Given the description of an element on the screen output the (x, y) to click on. 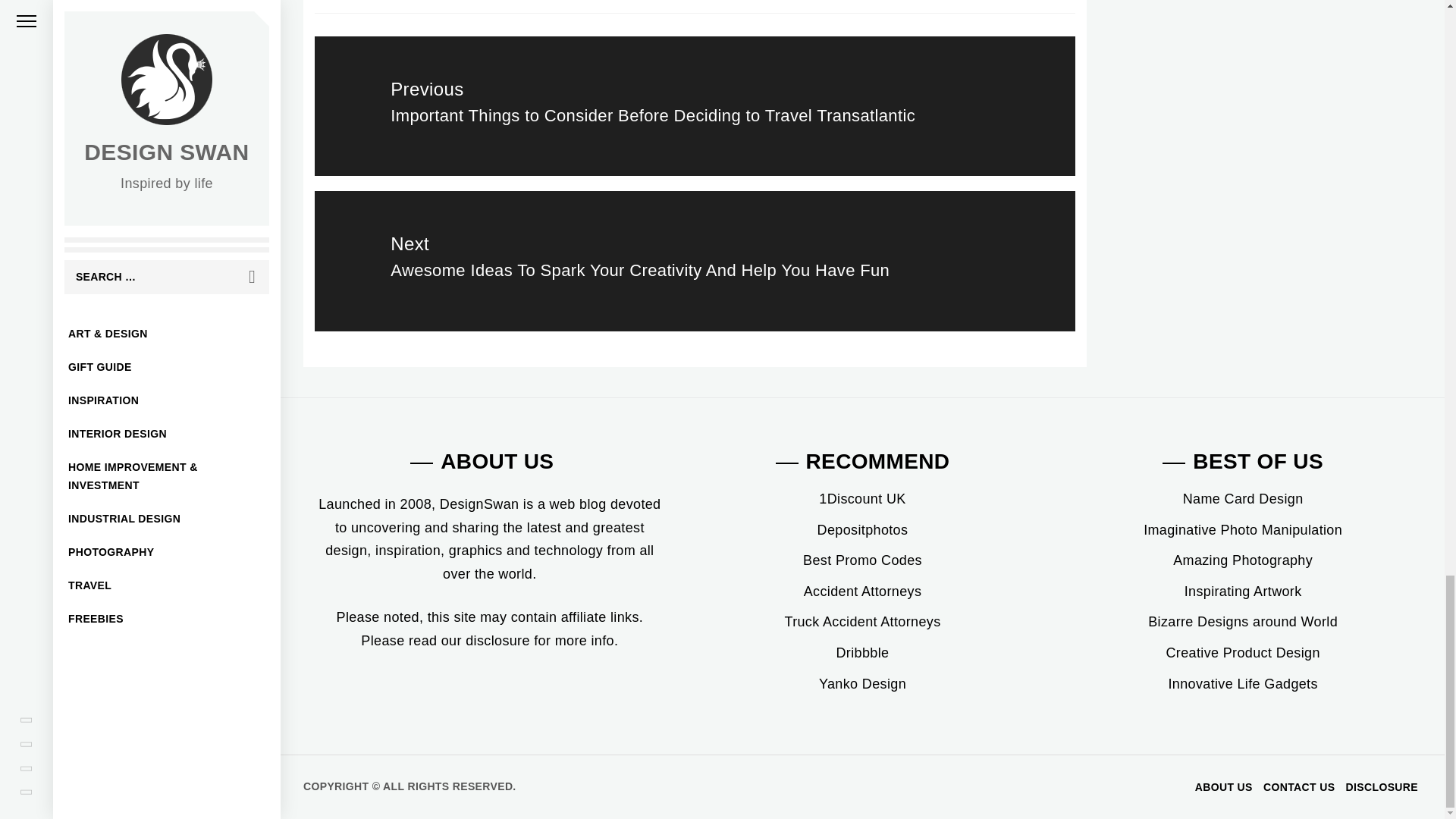
Bizarre Designs around World (1243, 621)
Name Card Design (1242, 498)
Inspirating Artwork (1243, 590)
Creative Product Design  (1242, 652)
Amazing Photography  (1243, 560)
UK Voucher Codes (861, 498)
Imaginative Photo Manipulation (1242, 529)
